Given the description of an element on the screen output the (x, y) to click on. 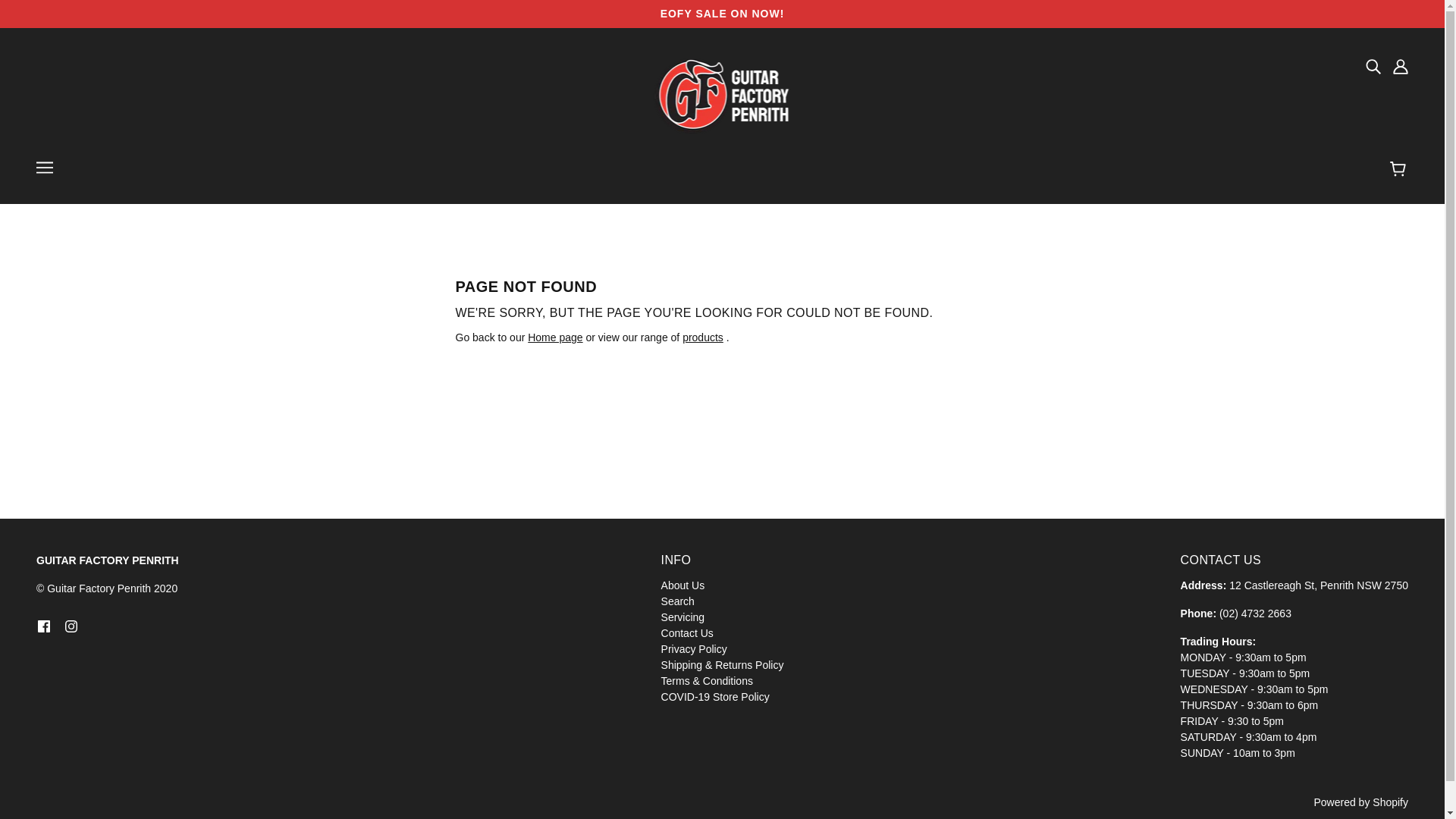
Privacy Policy (693, 648)
Guitar Factory Penrith (722, 95)
COVID-19 Store Policy (715, 695)
Contact Us (687, 632)
Search (677, 600)
About Us (682, 585)
Servicing (682, 616)
